Given the description of an element on the screen output the (x, y) to click on. 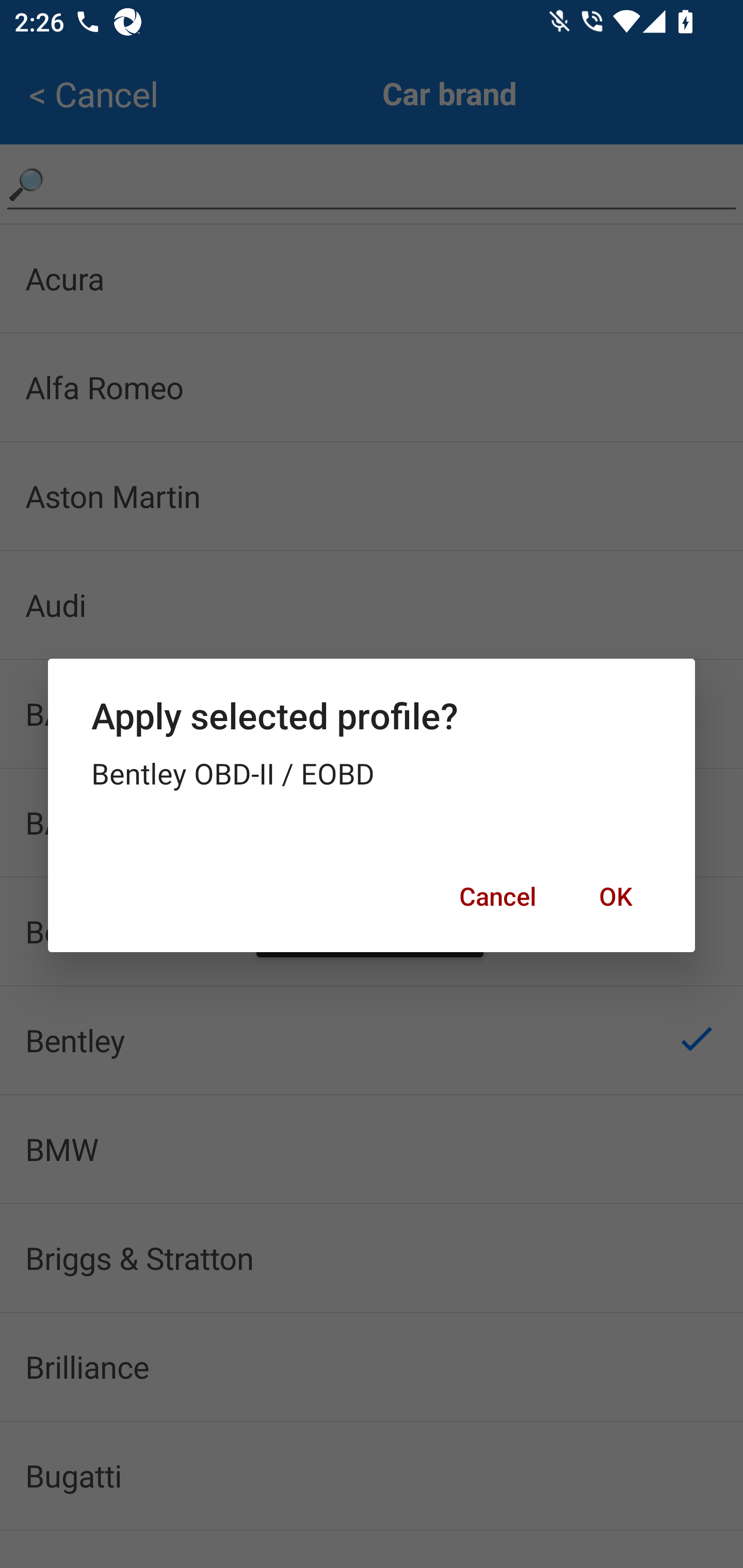
Cancel (497, 895)
OK (615, 895)
